Given the description of an element on the screen output the (x, y) to click on. 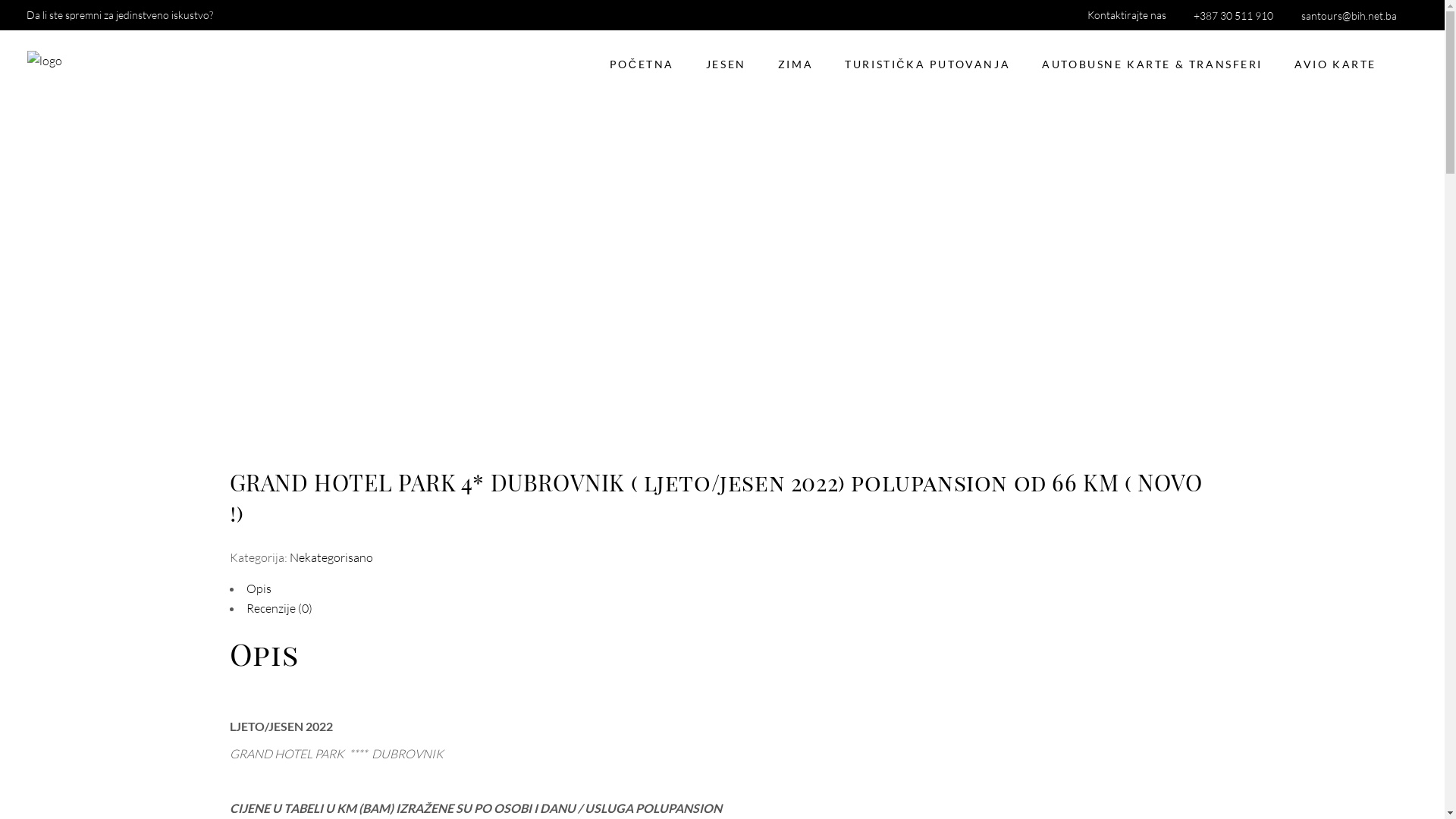
Nekategorisano Element type: text (331, 556)
Opis Element type: text (257, 588)
ZIMA Element type: text (795, 64)
AUTOBUSNE KARTE & TRANSFERI Element type: text (1152, 64)
AVIO KARTE Element type: text (1335, 64)
JESEN Element type: text (726, 64)
+387 30 511 910 Element type: text (1228, 15)
Recenzije (0) Element type: text (278, 607)
santours@bih.net.ba Element type: text (1343, 15)
